Given the description of an element on the screen output the (x, y) to click on. 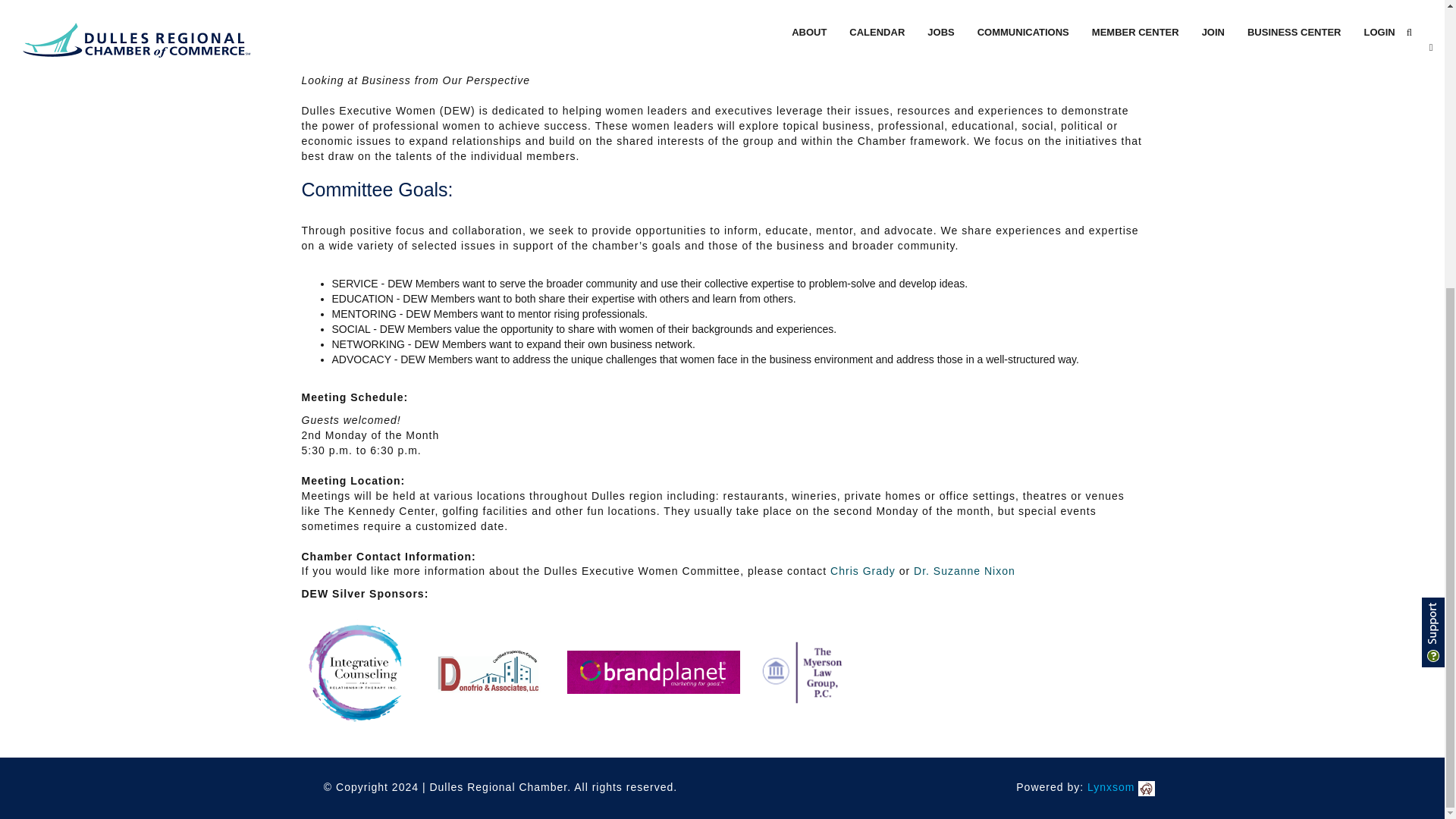
Dr. Suzanne Nixon (964, 571)
Lynxsom (1120, 787)
Chris Grady (864, 571)
